Given the description of an element on the screen output the (x, y) to click on. 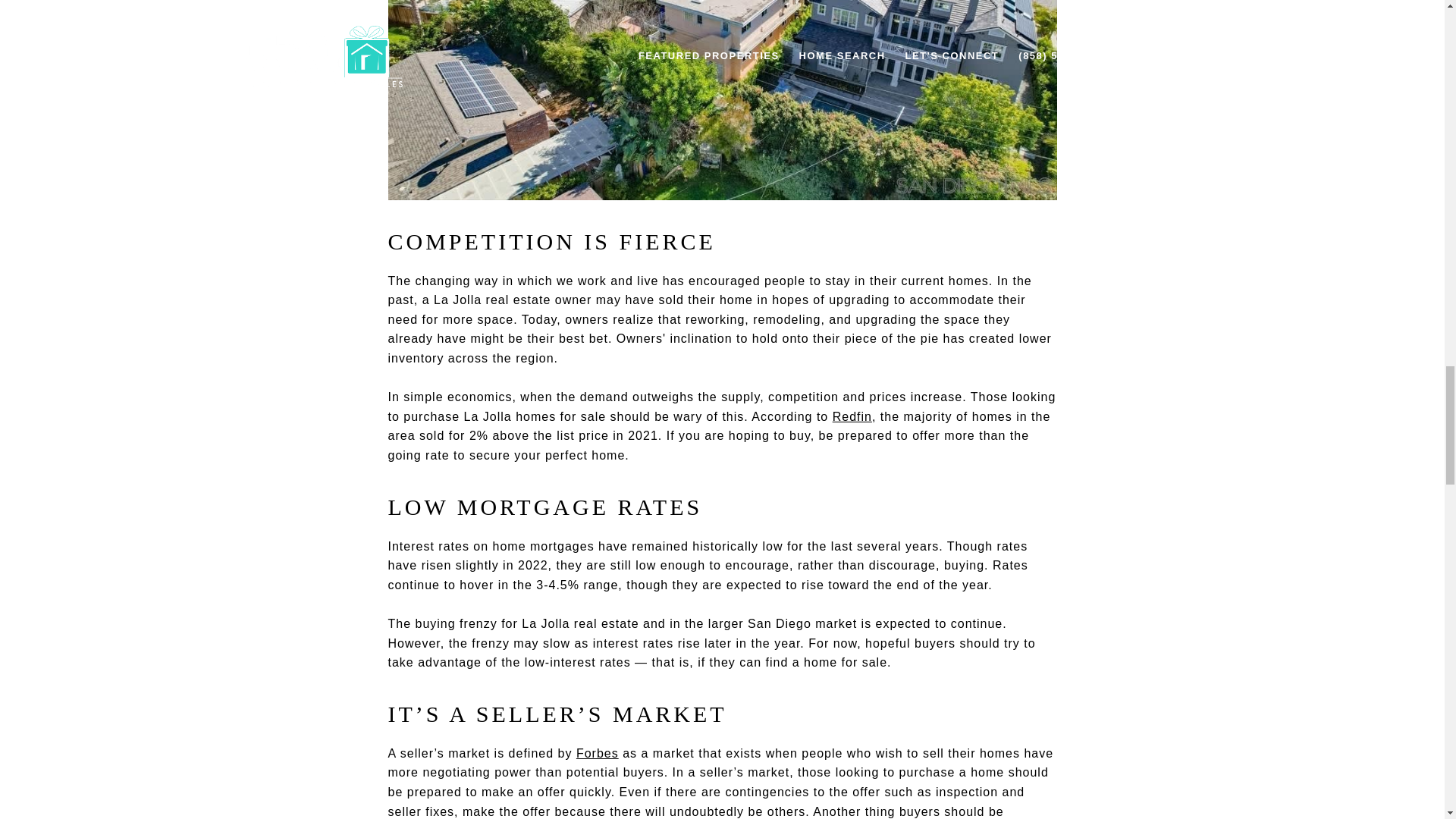
Forbes (597, 753)
Redfin (852, 416)
